Given the description of an element on the screen output the (x, y) to click on. 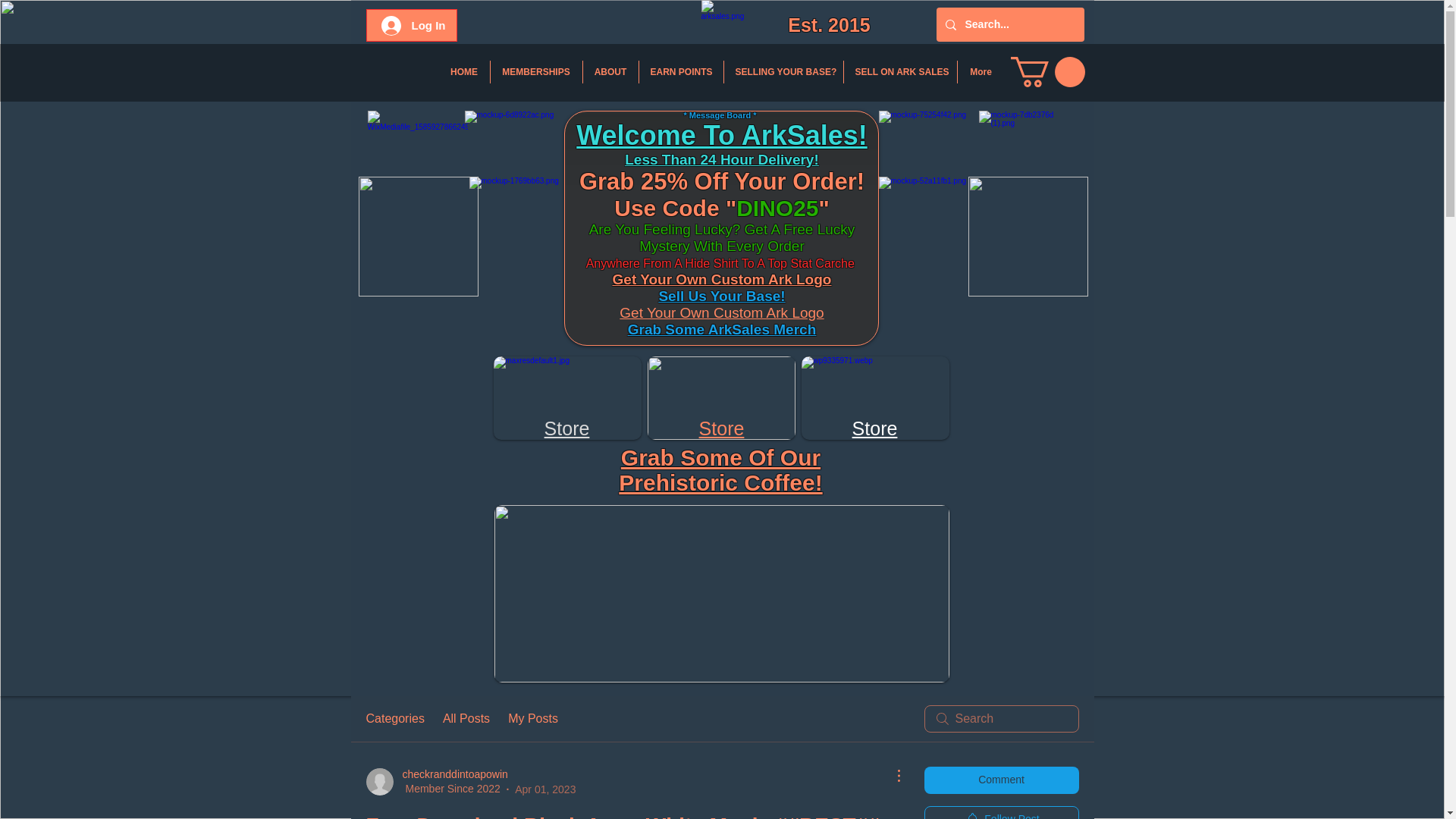
Store (874, 427)
MEMBERSHIPS (534, 71)
wop7hg2ozh471.png (720, 397)
ABOUT (609, 71)
Store (566, 427)
og (813, 279)
SELLING YOUR BASE? (783, 71)
wop7hg2ozh471.png (566, 397)
Sell Us Your Base! (721, 295)
